Given the description of an element on the screen output the (x, y) to click on. 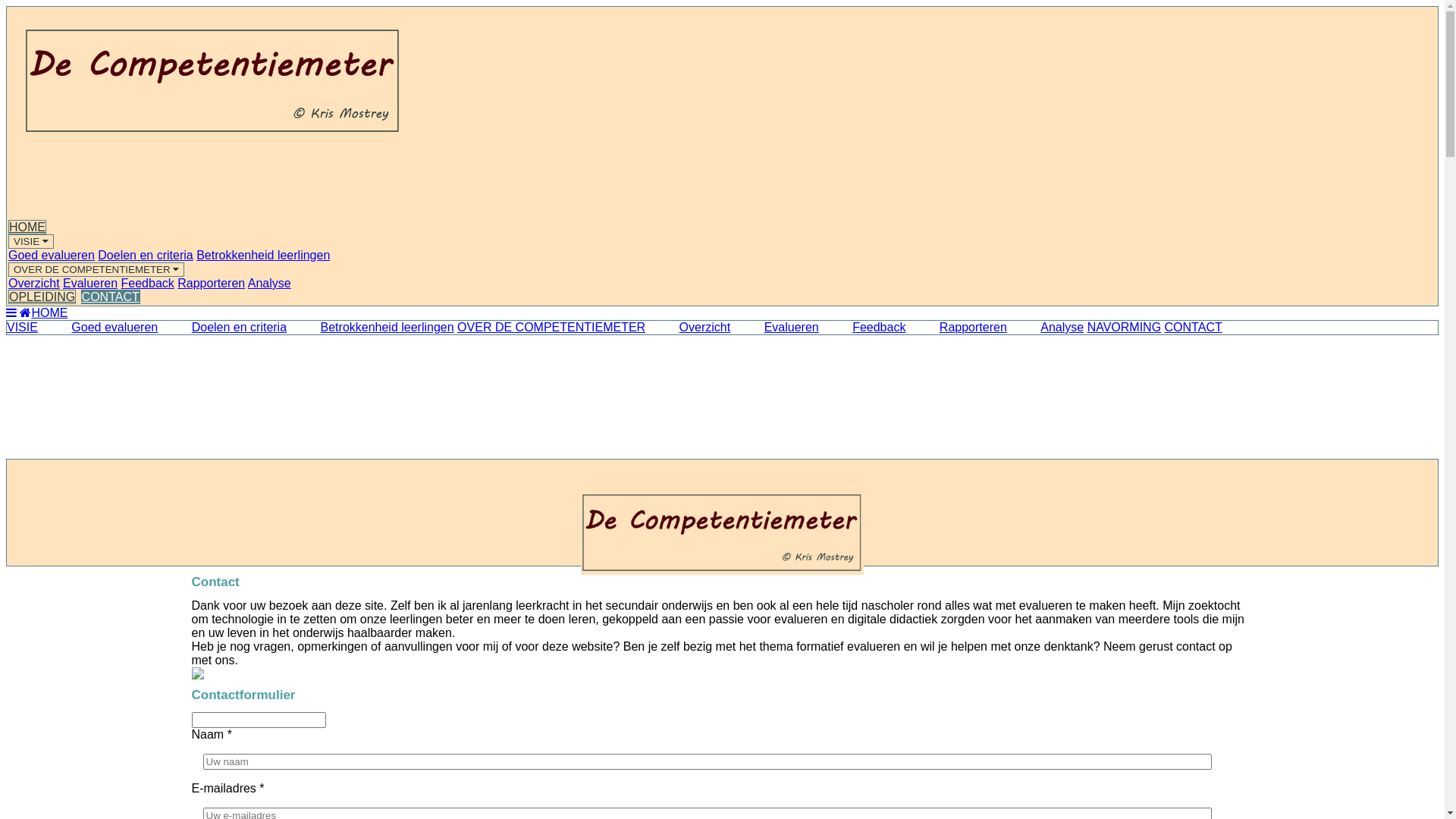
CONTACT Element type: text (110, 296)
Doelen en criteria Element type: text (144, 254)
Overzicht Element type: text (33, 282)
Feedback Element type: text (147, 282)
Analyse Element type: text (1046, 326)
Rapporteren Element type: text (958, 326)
Rapporteren Element type: text (210, 282)
HOME Element type: text (43, 312)
Betrokkenheid leerlingen Element type: text (372, 326)
OVER DE COMPETENTIEMETER Element type: text (96, 269)
CONTACT Element type: text (1193, 326)
Doelen en criteria Element type: text (223, 326)
VISIE Element type: text (21, 326)
VISIE Element type: text (30, 241)
OPLEIDING Element type: text (41, 296)
Evalueren Element type: text (776, 326)
OVER DE COMPETENTIEMETER Element type: text (551, 326)
Overzicht Element type: text (690, 326)
Goed evalueren Element type: text (98, 326)
Evalueren Element type: text (89, 282)
Feedback Element type: text (863, 326)
NAVORMING Element type: text (1124, 326)
Betrokkenheid leerlingen Element type: text (262, 254)
Goed evalueren Element type: text (51, 254)
HOME Element type: text (27, 226)
Analyse Element type: text (269, 282)
